Given the description of an element on the screen output the (x, y) to click on. 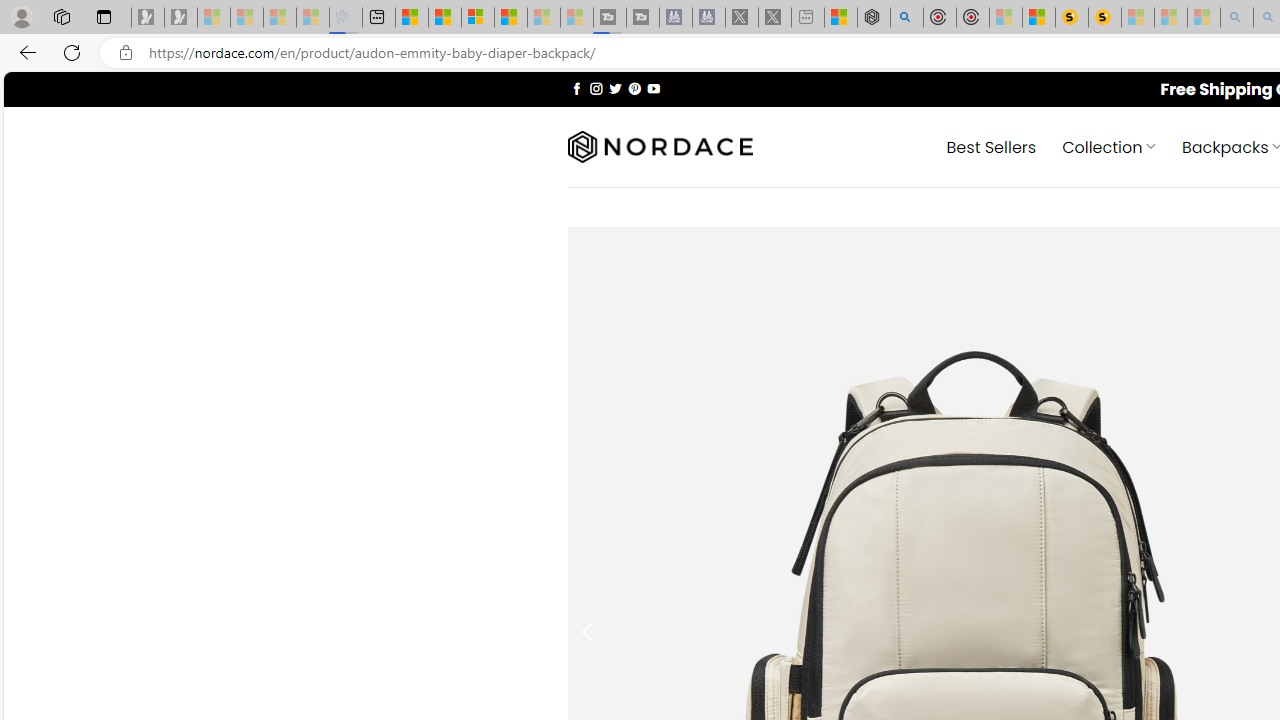
poe - Search (906, 17)
amazon - Search - Sleeping (1237, 17)
Overview (478, 17)
Follow on Pinterest (634, 88)
Follow on Instagram (596, 88)
  Best Sellers (990, 146)
